Given the description of an element on the screen output the (x, y) to click on. 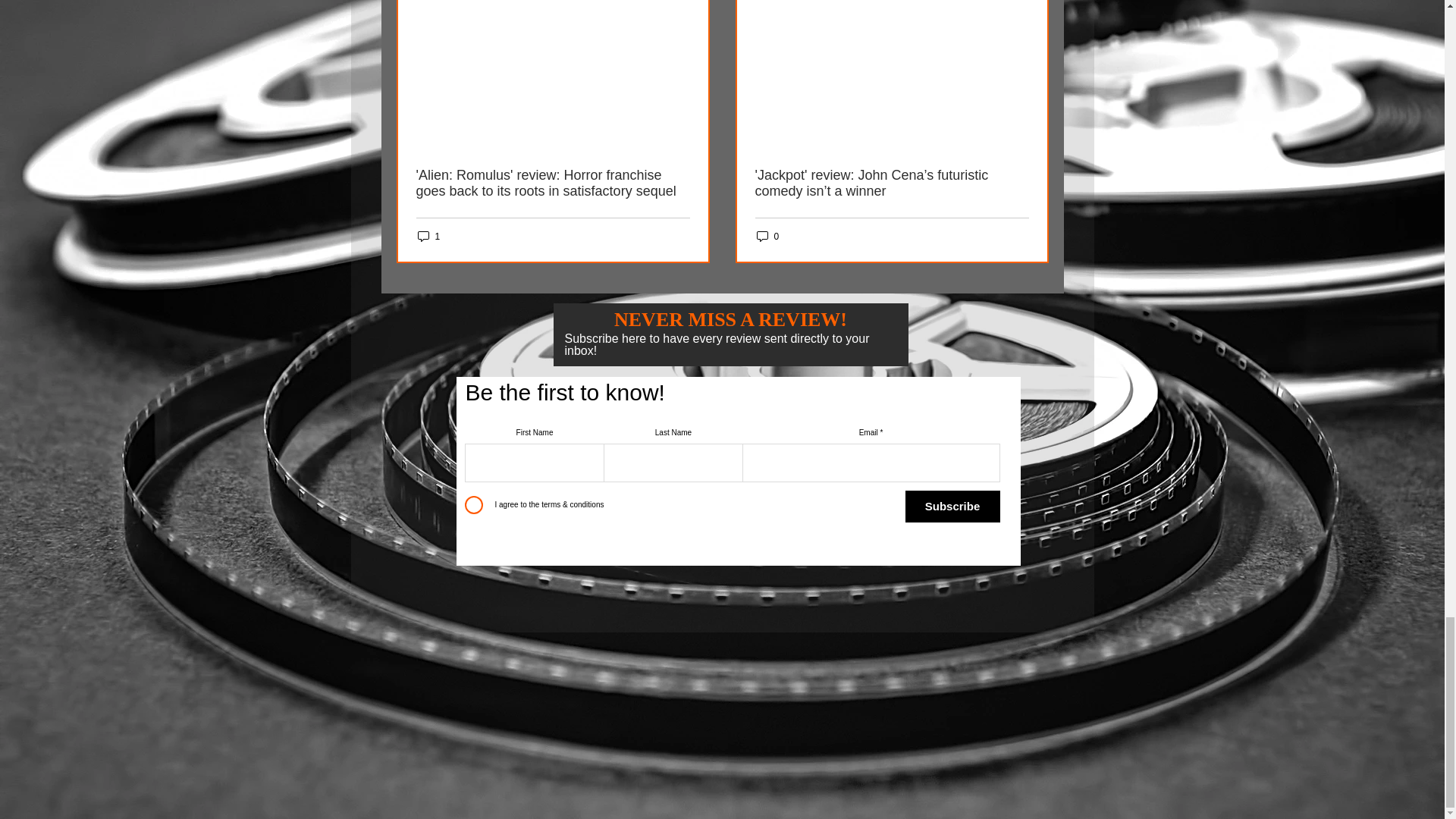
1 (427, 236)
0 (767, 236)
Subscribe (952, 506)
